Given the description of an element on the screen output the (x, y) to click on. 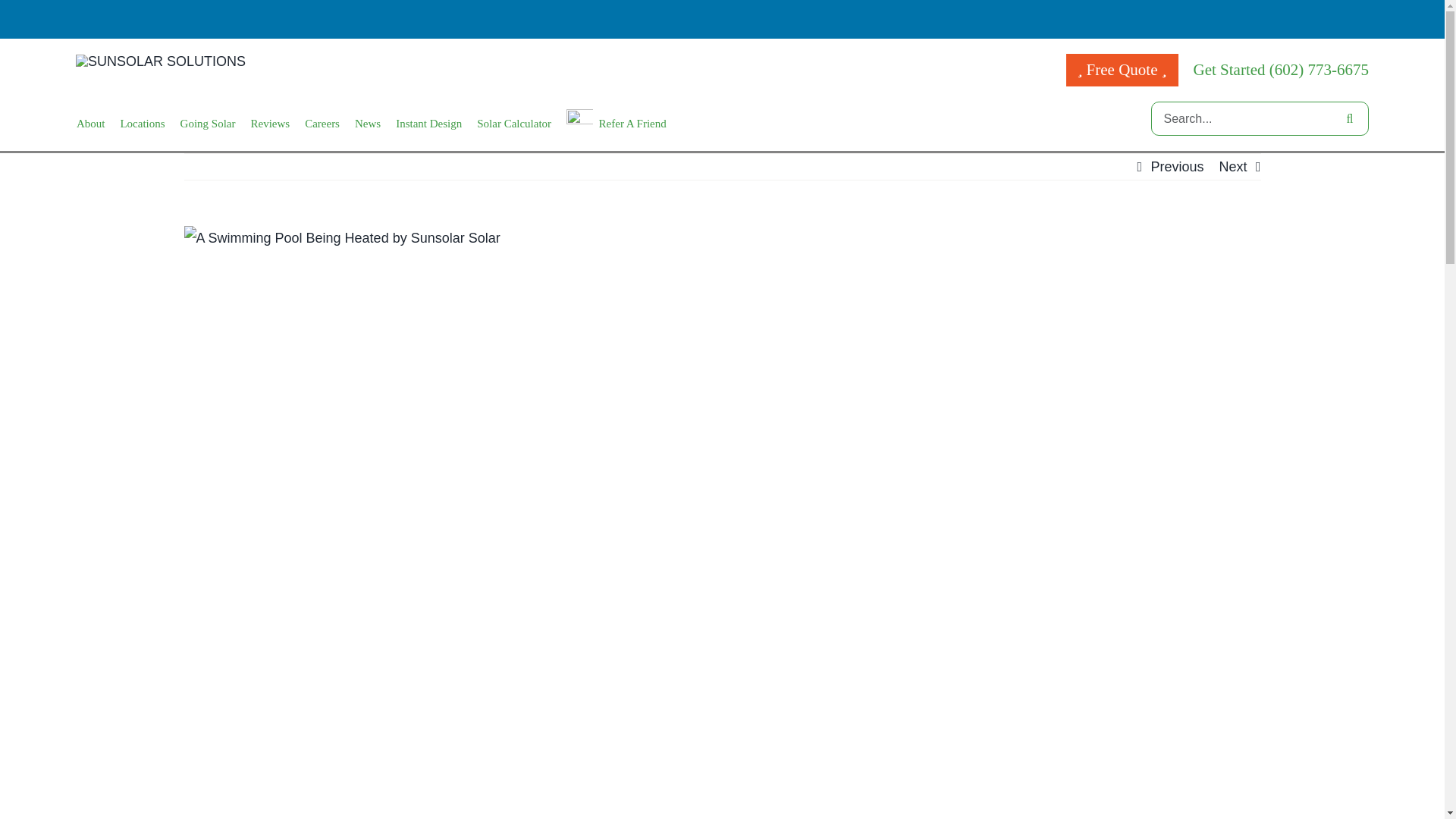
Solar Calculator (514, 124)
lcaiCta (428, 124)
Refer A Friend (616, 124)
Reviews (269, 124)
Careers (321, 124)
Free Quote (1121, 70)
About (90, 124)
Instant Design (428, 124)
Get started. Call us today! (1281, 69)
Locations (141, 124)
News (367, 124)
Next (1232, 166)
Previous (1177, 166)
Going Solar (207, 124)
